Given the description of an element on the screen output the (x, y) to click on. 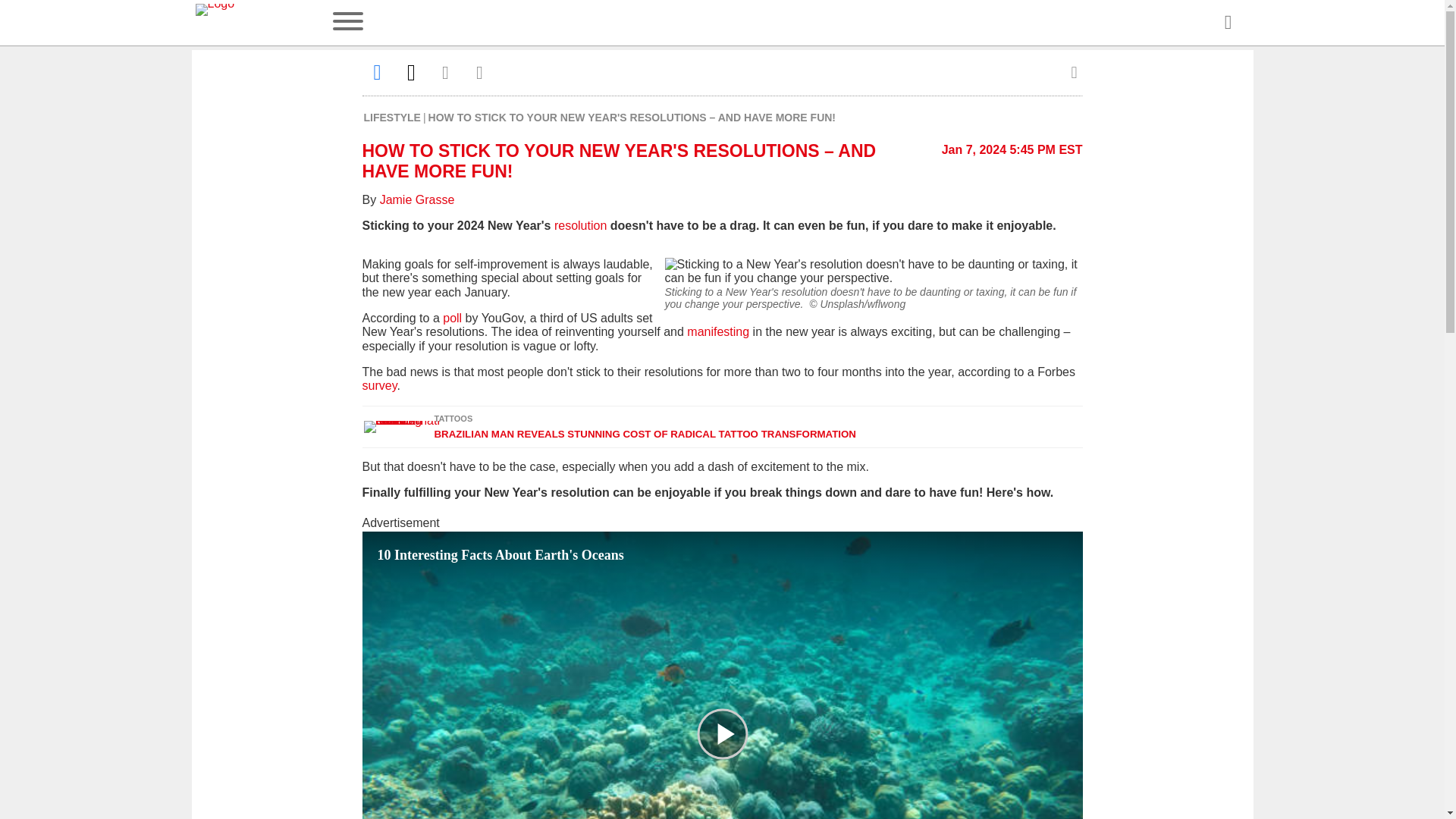
Open search (1227, 22)
resolution (582, 225)
LIFESTYLE (392, 117)
Share on Facebook (377, 72)
menu (347, 22)
manifesting (718, 331)
Share via mail (445, 72)
poll (452, 318)
Copy link (479, 72)
Share on Twitter (411, 72)
survey (379, 385)
Jamie Grasse (417, 199)
